Given the description of an element on the screen output the (x, y) to click on. 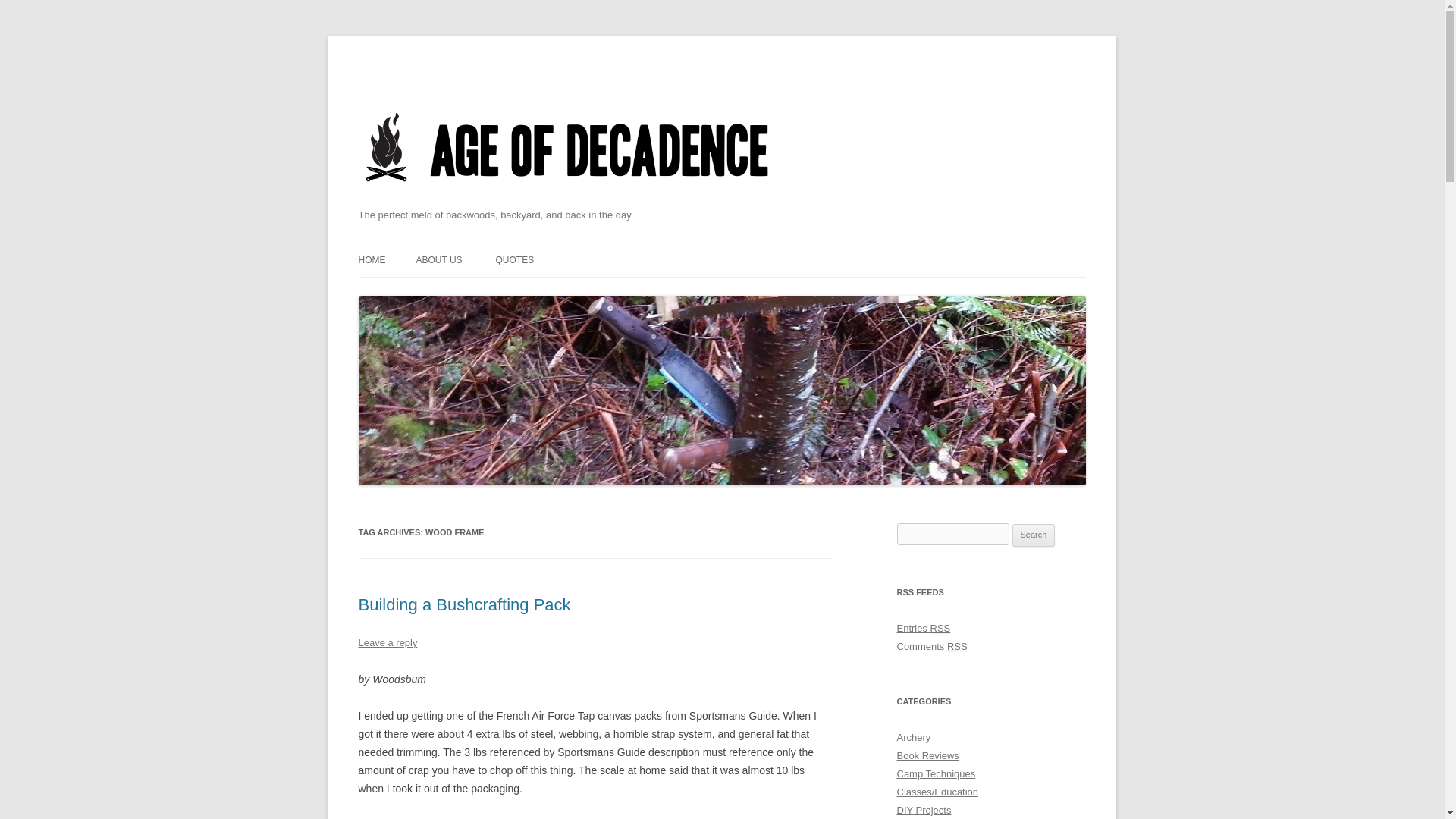
QUOTES (514, 259)
Camp Techniques (935, 773)
About Me (437, 259)
Search (1033, 535)
Skip to content (757, 247)
Quotes and Rules (514, 259)
Archery (913, 737)
DIY Projects (923, 809)
Comments RSS (931, 645)
Leave a reply (387, 642)
Building a Bushcrafting Pack (464, 604)
Entries RSS (923, 627)
Search (1033, 535)
The Age of Decadence (567, 200)
Skip to content (757, 247)
